Given the description of an element on the screen output the (x, y) to click on. 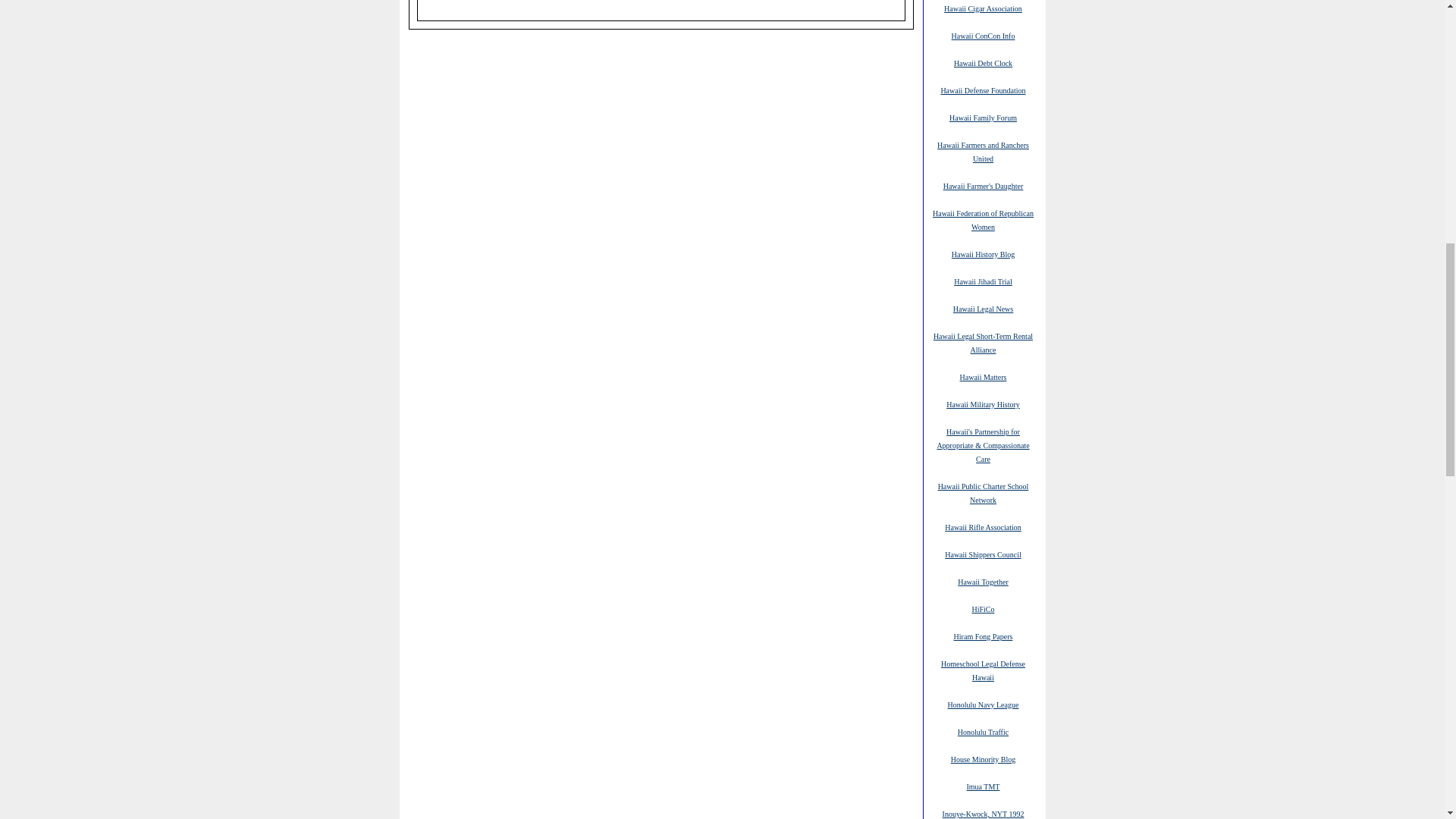
Hawaii Cigar Association (982, 8)
Hawaii Defense Foundation (982, 90)
Hawaii ConCon Info (983, 35)
Hawaii Debt Clock (982, 62)
